Given the description of an element on the screen output the (x, y) to click on. 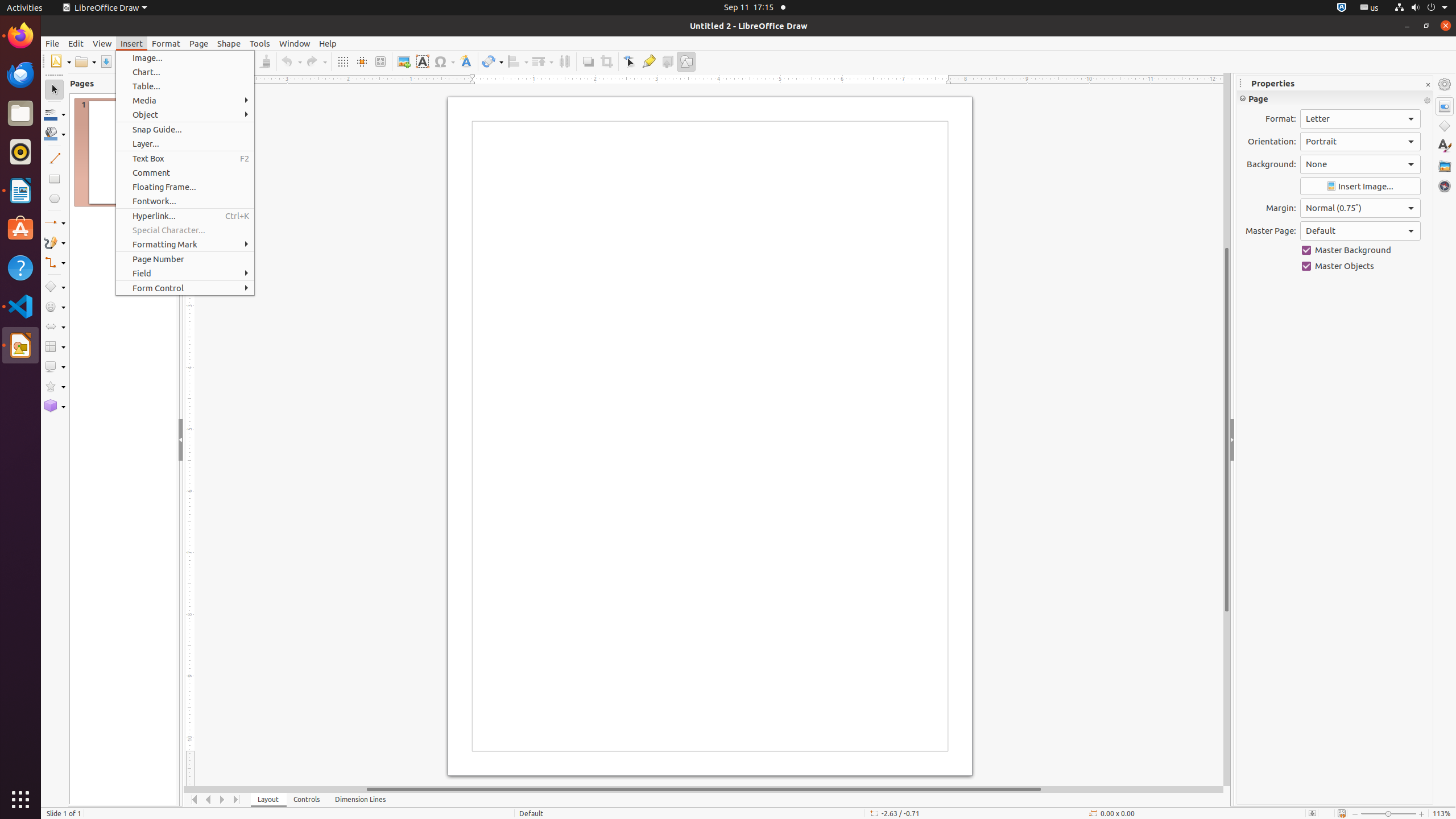
Master Objects Element type: check-box (1360, 265)
Fontwork... Element type: menu-item (185, 200)
System Element type: menu (1420, 7)
Image... Element type: menu-item (185, 57)
Margin: Element type: combo-box (1360, 207)
